Given the description of an element on the screen output the (x, y) to click on. 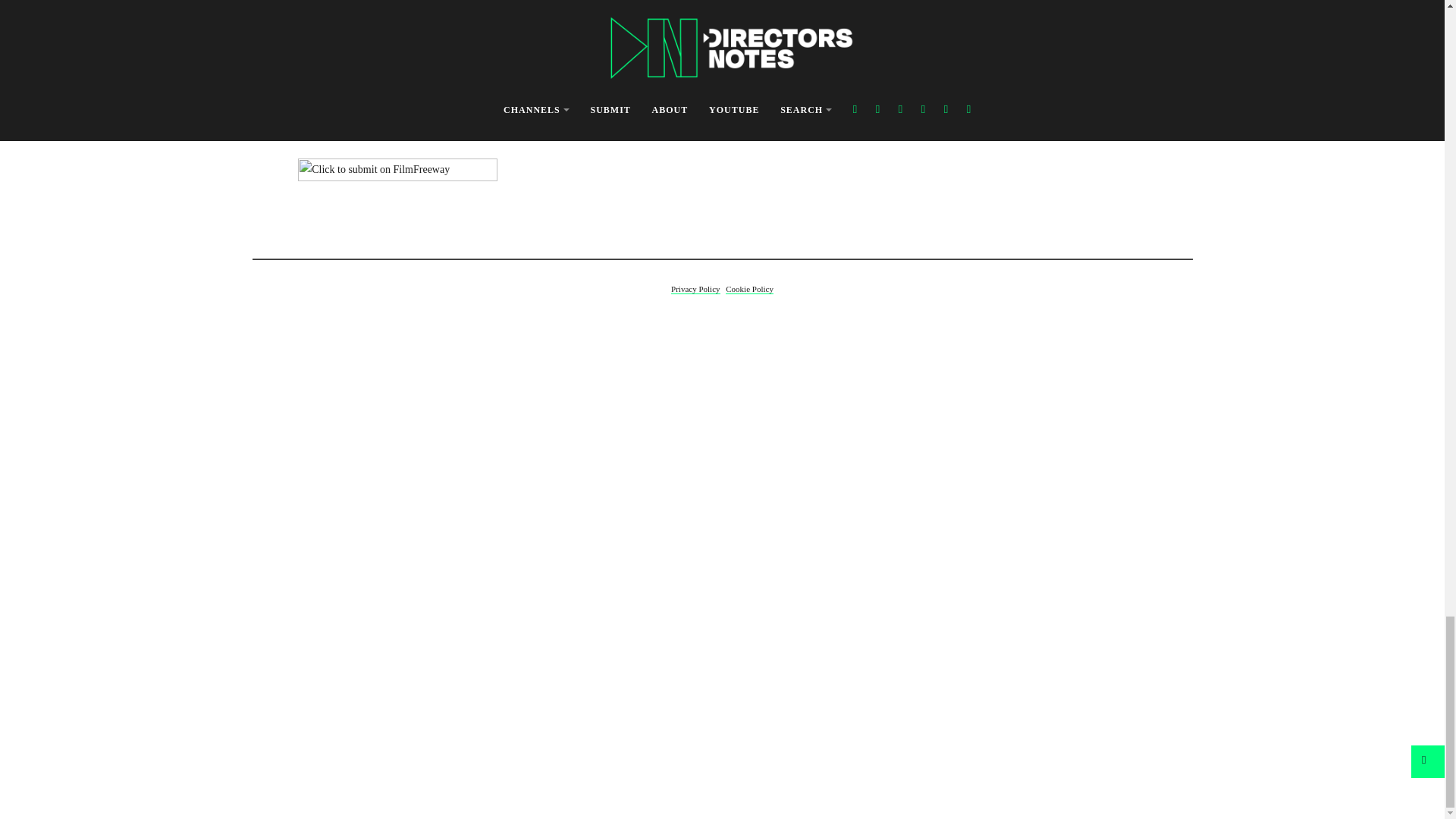
Post Comment (326, 9)
Click to submit on FilmFreeway (397, 176)
Click to submit on FilmFreeway (397, 176)
Directors Notes on YouTube (724, 161)
